Given the description of an element on the screen output the (x, y) to click on. 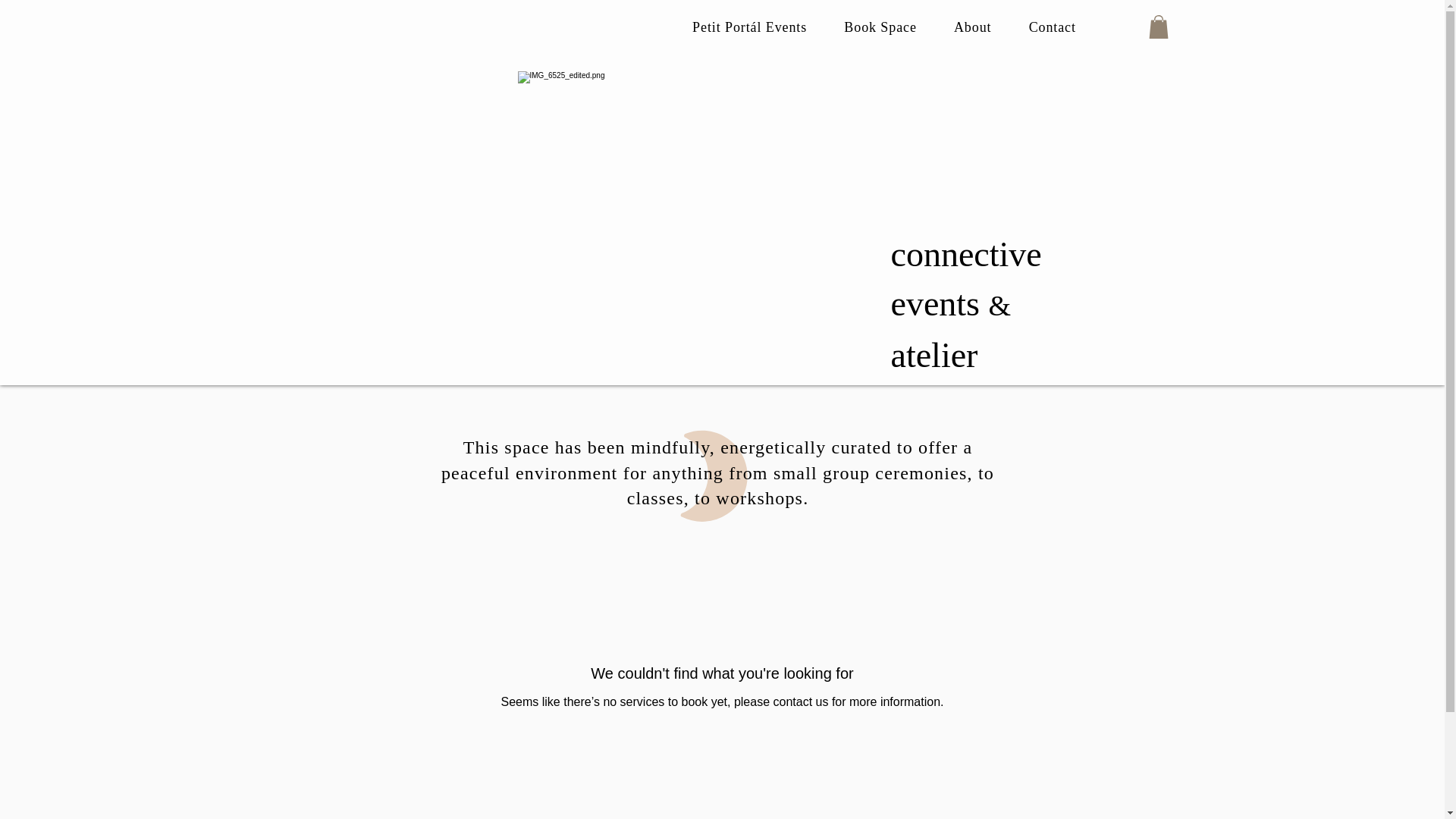
Book Space (880, 27)
Contact (1051, 27)
About (972, 27)
